Given the description of an element on the screen output the (x, y) to click on. 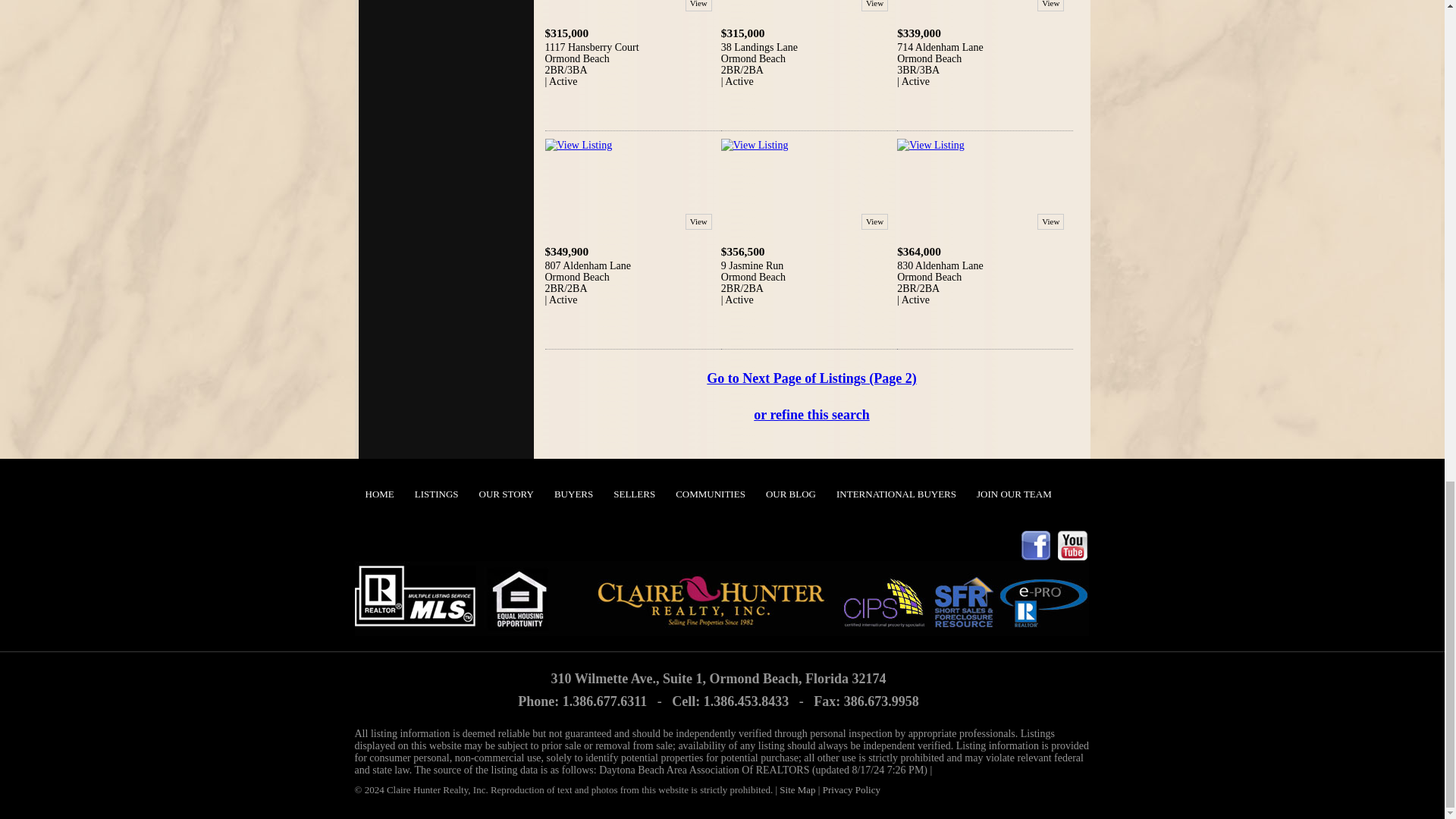
View Listing (577, 144)
View Listing (754, 144)
View Listing (929, 144)
